Given the description of an element on the screen output the (x, y) to click on. 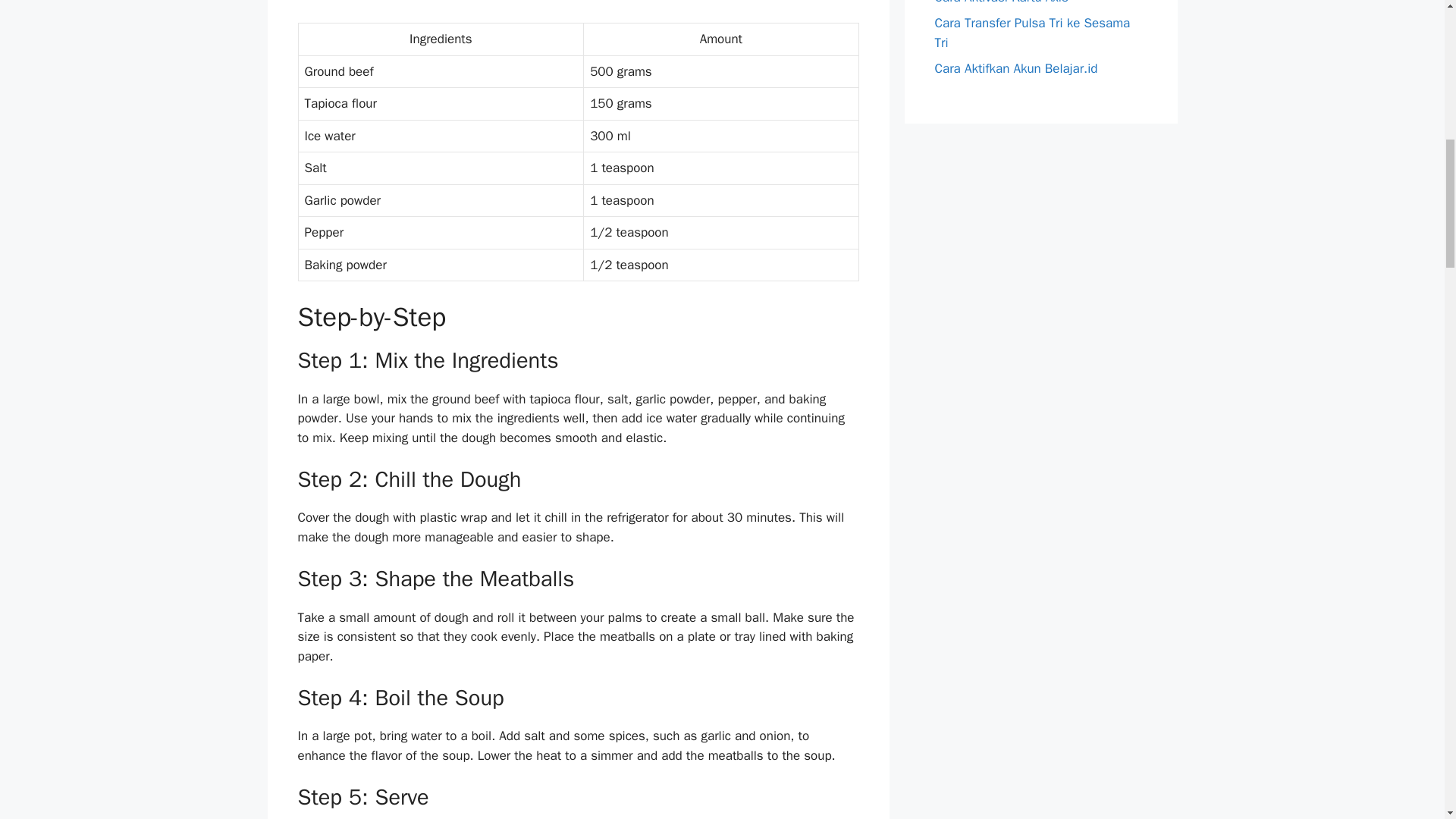
Gulirkan kembali ke puncak laman (1406, 720)
Advertisement (578, 11)
